Given the description of an element on the screen output the (x, y) to click on. 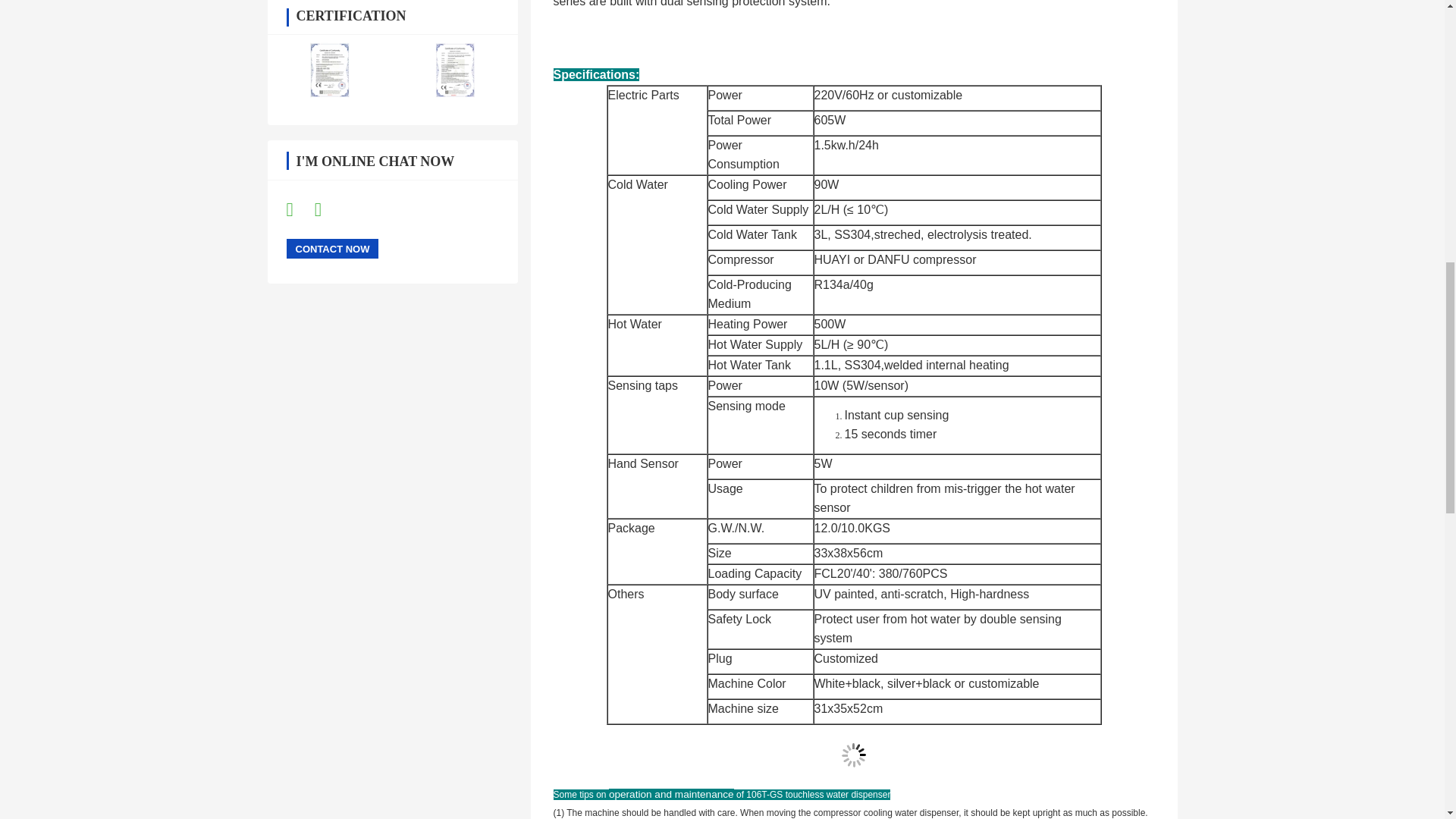
Contact Now (332, 248)
